Given the description of an element on the screen output the (x, y) to click on. 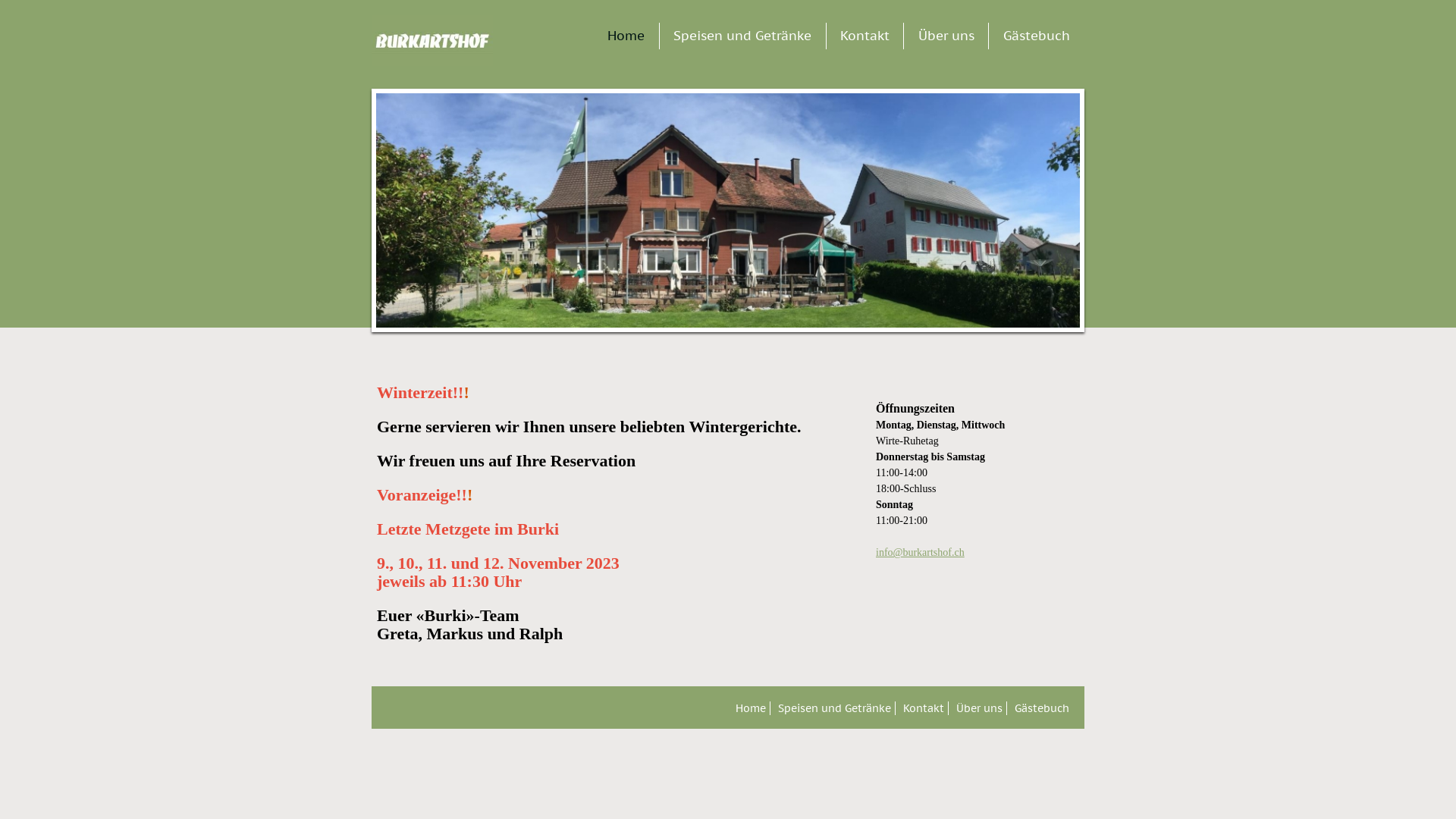
Kontakt Element type: text (864, 35)
info@burkartshof.ch Element type: text (919, 552)
Kontakt Element type: text (925, 708)
Home Element type: text (752, 708)
Home Element type: text (625, 35)
